Given the description of an element on the screen output the (x, y) to click on. 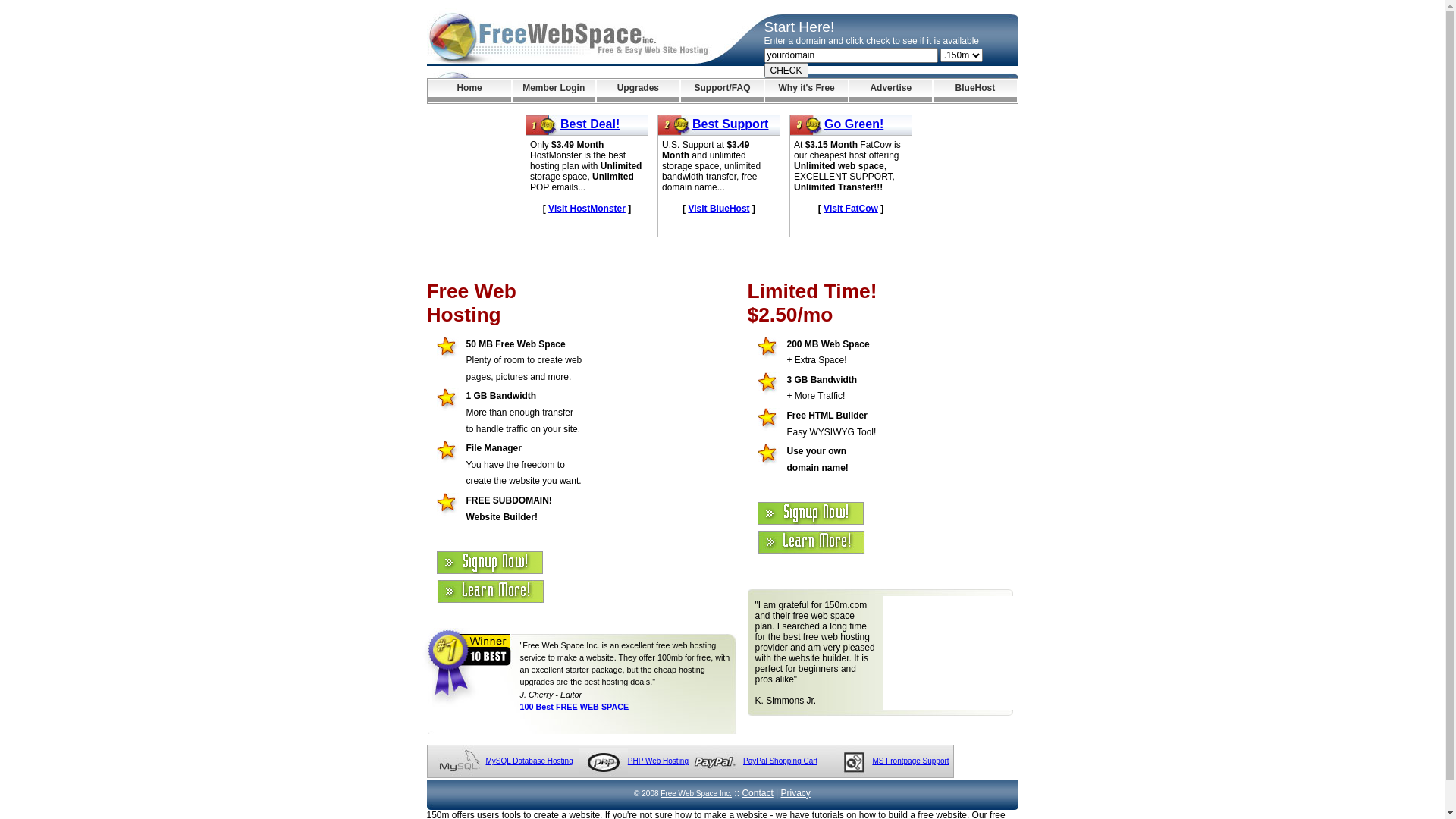
Contact Element type: text (756, 792)
MySQL Database Hosting Element type: text (528, 760)
Why it's Free Element type: text (806, 90)
Free Web Space Inc. Element type: text (695, 793)
Support/FAQ Element type: text (721, 90)
Privacy Element type: text (795, 792)
Advertise Element type: text (890, 90)
BlueHost Element type: text (974, 90)
PayPal Shopping Cart Element type: text (780, 760)
Member Login Element type: text (553, 90)
100 Best FREE WEB SPACE Element type: text (574, 706)
MS Frontpage Support Element type: text (910, 760)
Home Element type: text (468, 90)
Upgrades Element type: text (637, 90)
CHECK Element type: text (786, 70)
PHP Web Hosting Element type: text (657, 760)
